Given the description of an element on the screen output the (x, y) to click on. 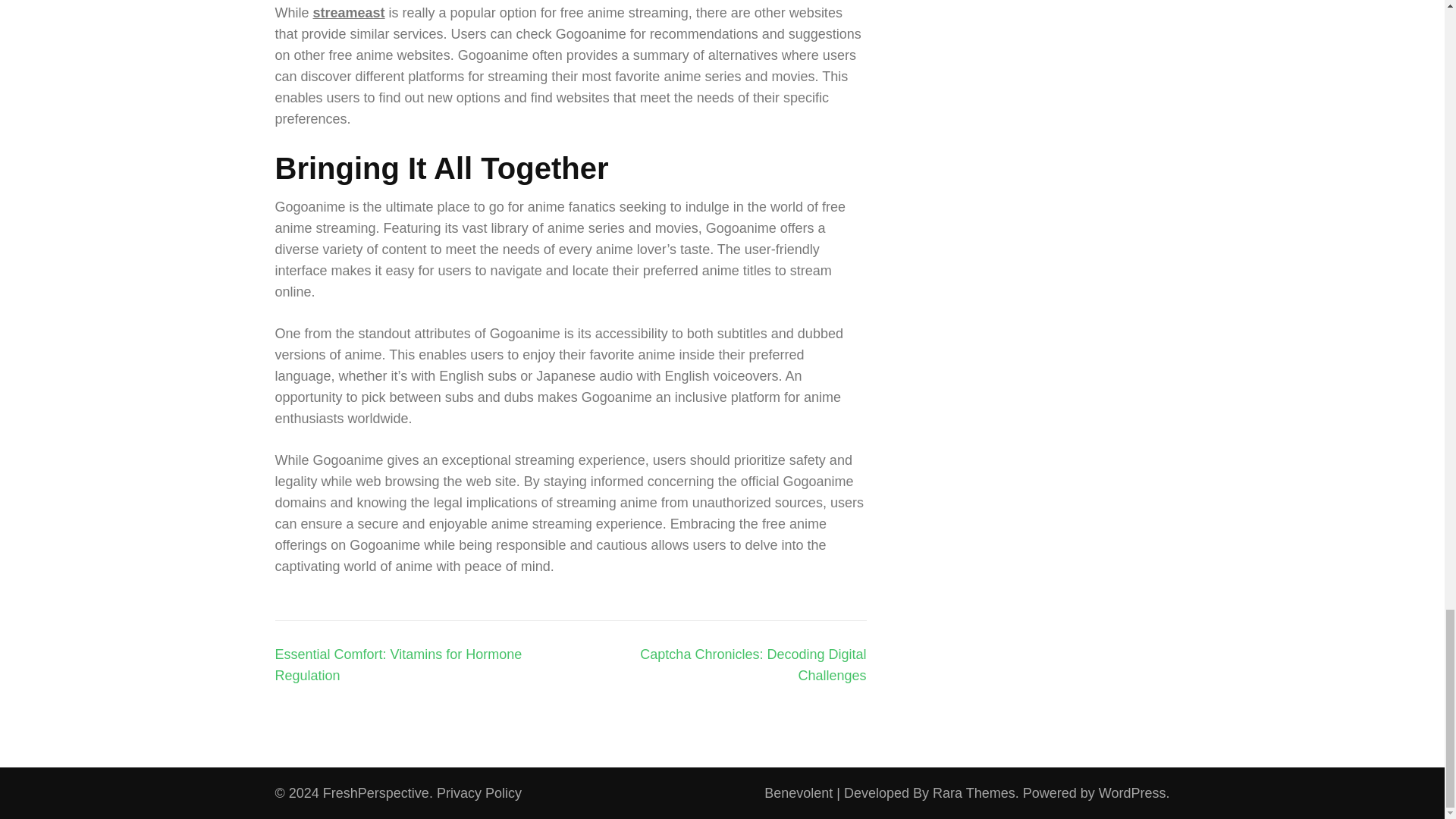
streameast (349, 12)
Captcha Chronicles: Decoding Digital Challenges (753, 665)
Essential Comfort: Vitamins for Hormone Regulation (398, 665)
